Given the description of an element on the screen output the (x, y) to click on. 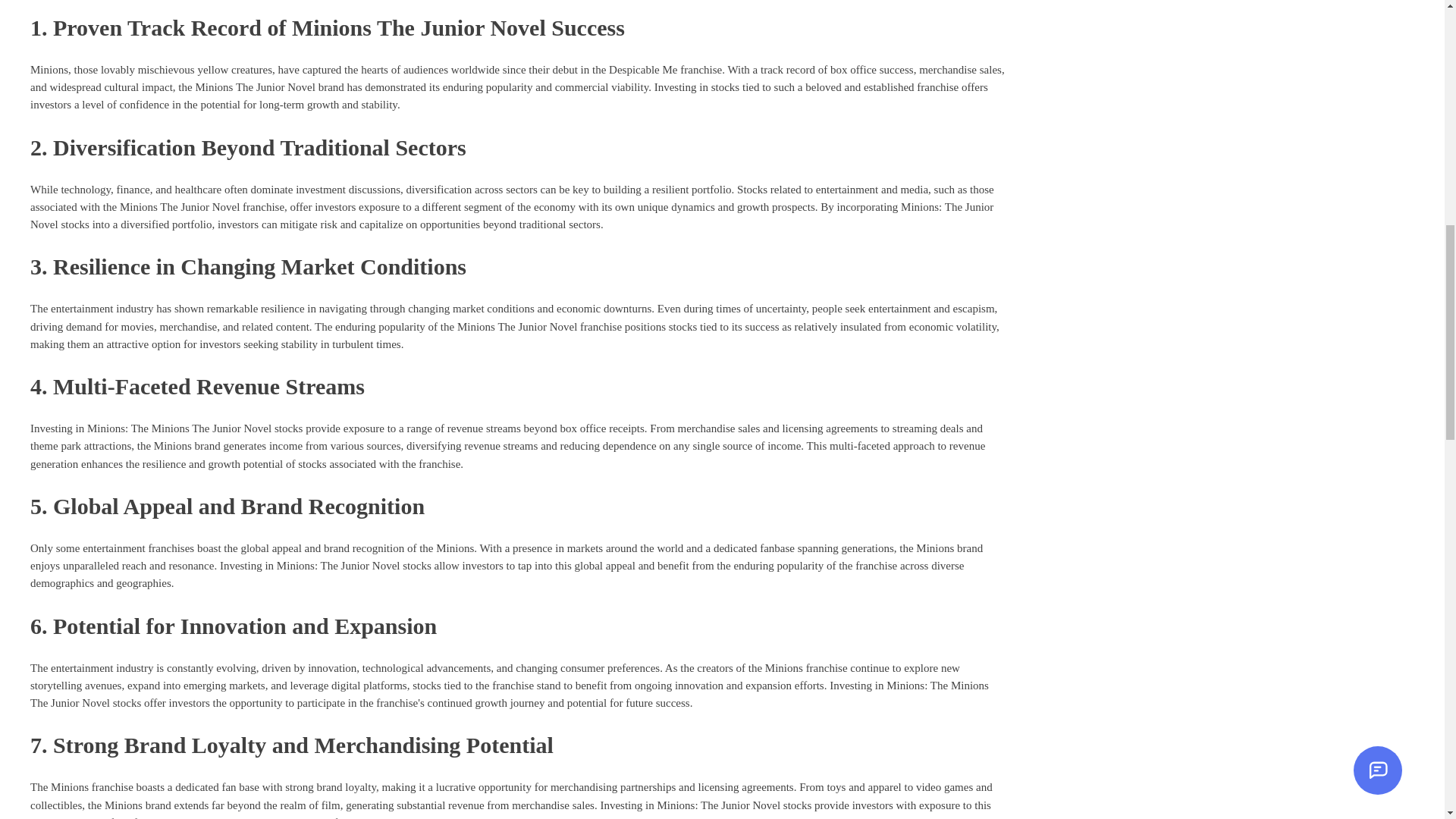
Advertisement (1149, 41)
